Given the description of an element on the screen output the (x, y) to click on. 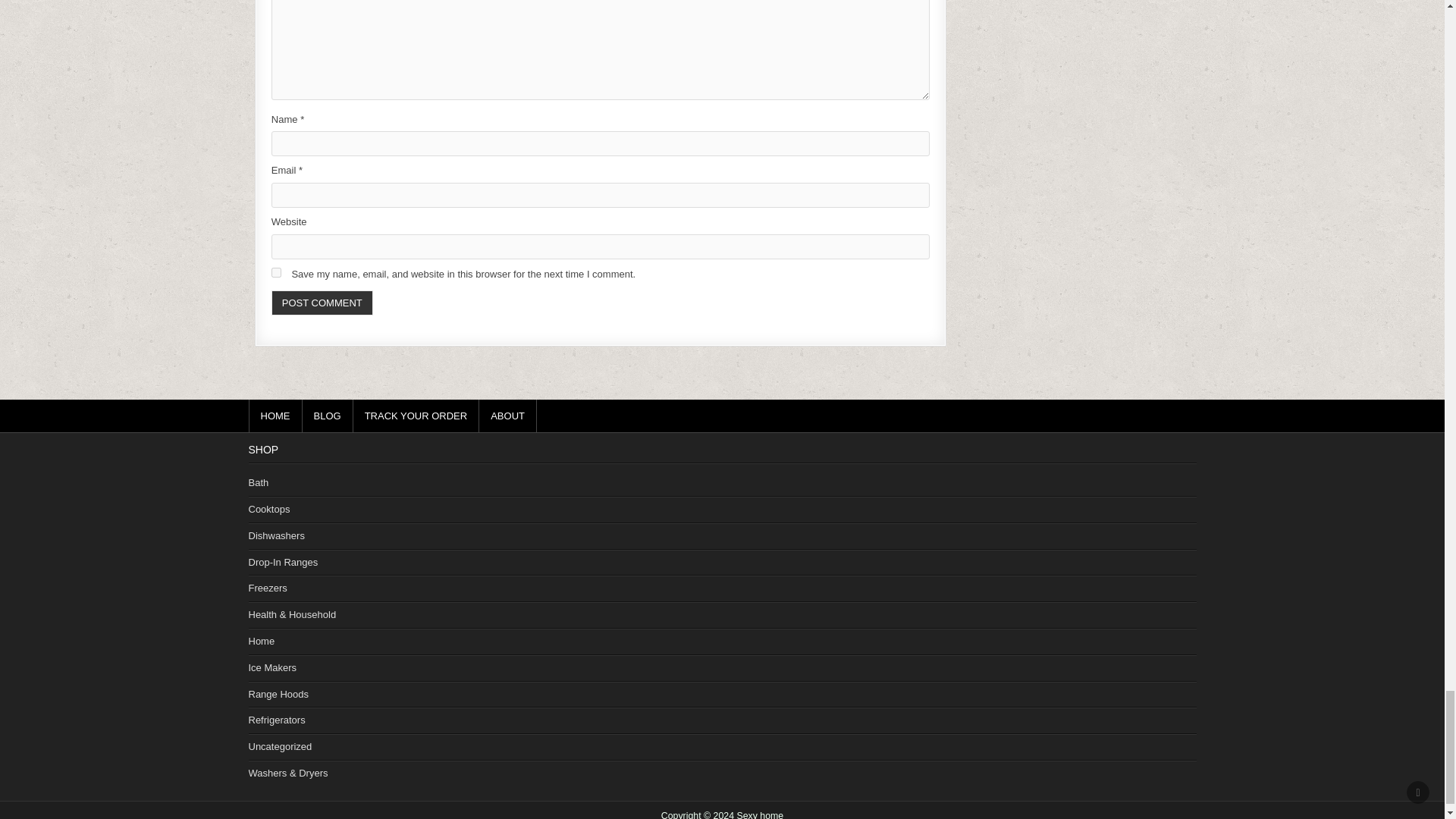
Post Comment (321, 302)
HOME (275, 415)
Drop-In Ranges (283, 562)
yes (275, 272)
Dishwashers (276, 535)
Freezers (267, 587)
Cooktops (268, 509)
Bath (258, 482)
BLOG (326, 415)
ABOUT (508, 415)
